Given the description of an element on the screen output the (x, y) to click on. 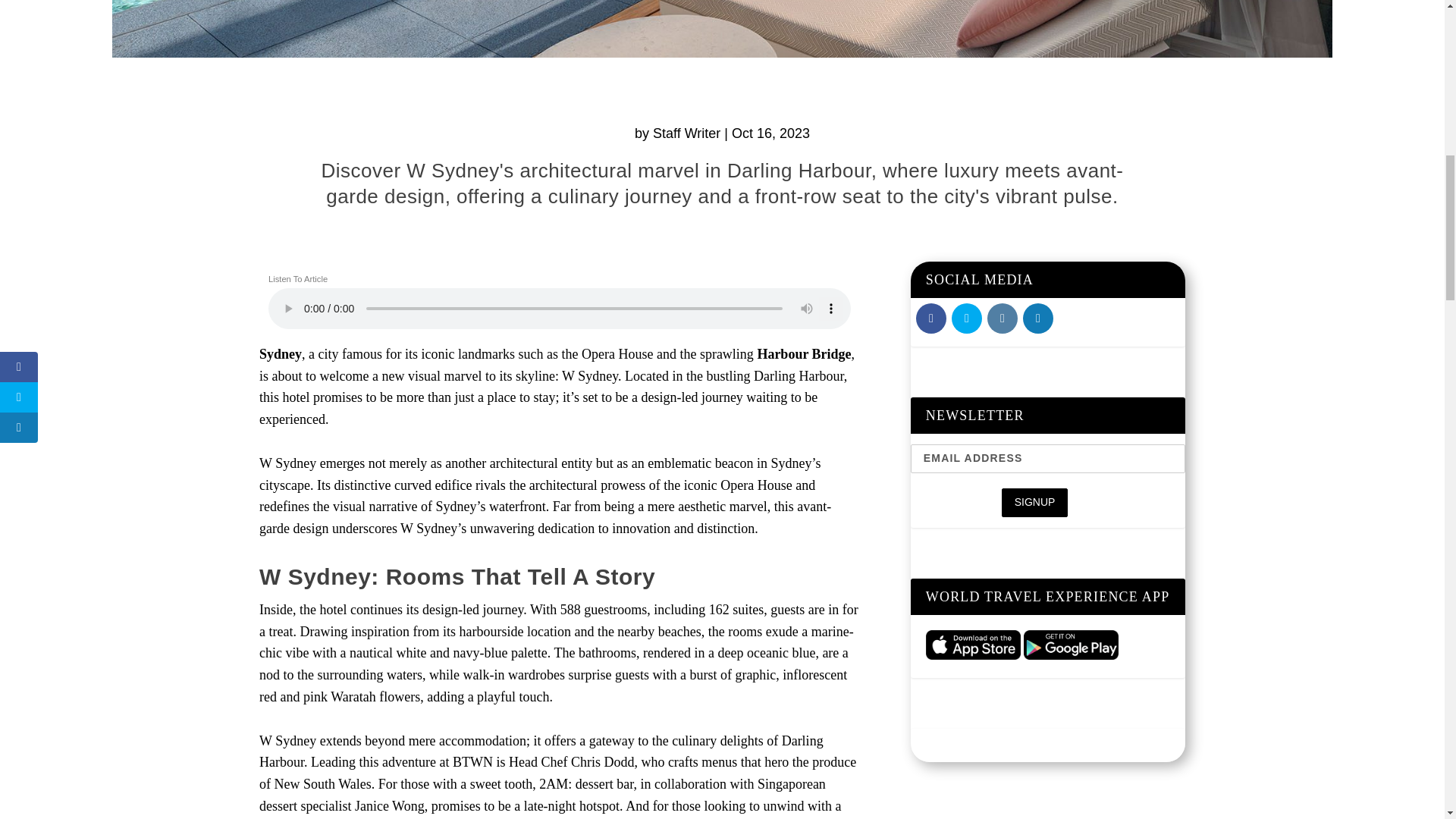
World Travel Magazine GooglePlay (1070, 644)
World Travel Magazine AppStore (973, 644)
W Sydney (722, 28)
Signup (1034, 502)
Posts by Staff Writer (686, 133)
